Given the description of an element on the screen output the (x, y) to click on. 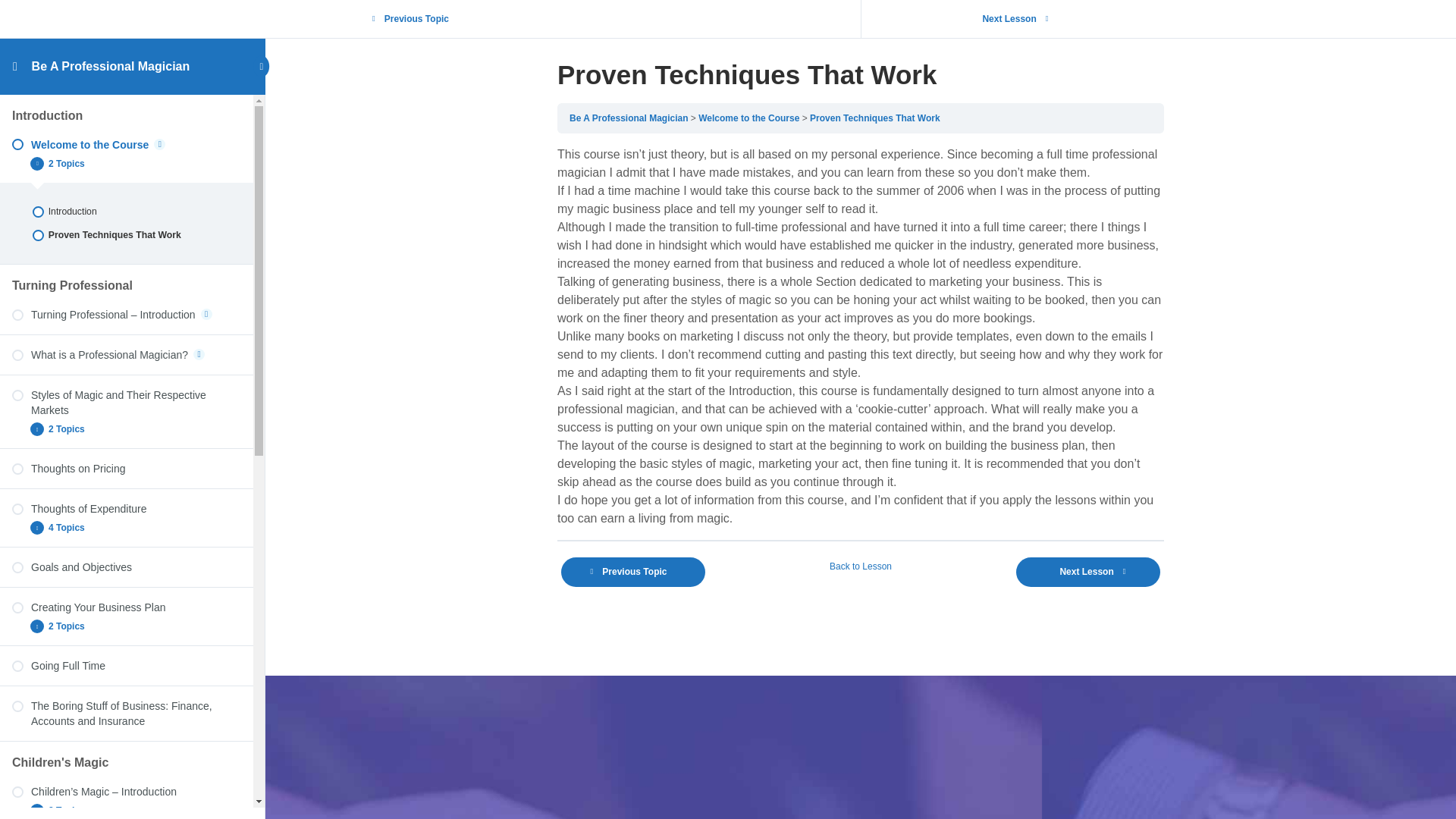
Thoughts of Expenditure (126, 508)
Proven Techniques That Work (126, 235)
What is a Professional Magician? (126, 354)
Creating Your Business Plan (126, 607)
Goals and Objectives (126, 566)
Welcome to the Course (126, 144)
Styles of Magic and Their Respective Markets (126, 402)
Be A Professional Magician (111, 65)
Introduction (126, 211)
Going Full Time (126, 665)
